Given the description of an element on the screen output the (x, y) to click on. 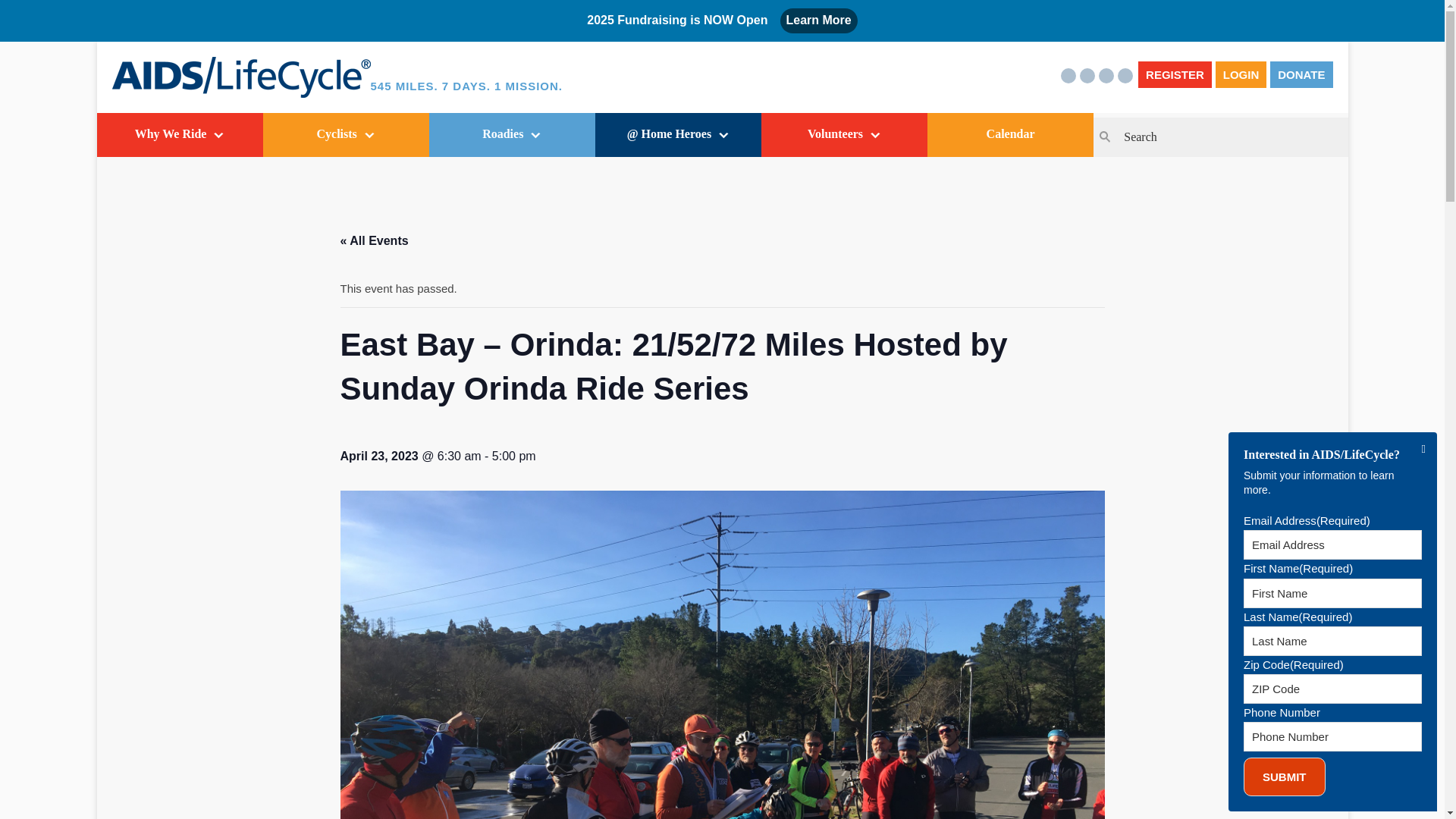
LOGIN (1240, 74)
Cyclists (346, 134)
REGISTER (1174, 74)
Why We Ride (180, 134)
Learn More (817, 20)
Submit (1283, 776)
DONATE (1300, 74)
Roadies (512, 134)
